Given the description of an element on the screen output the (x, y) to click on. 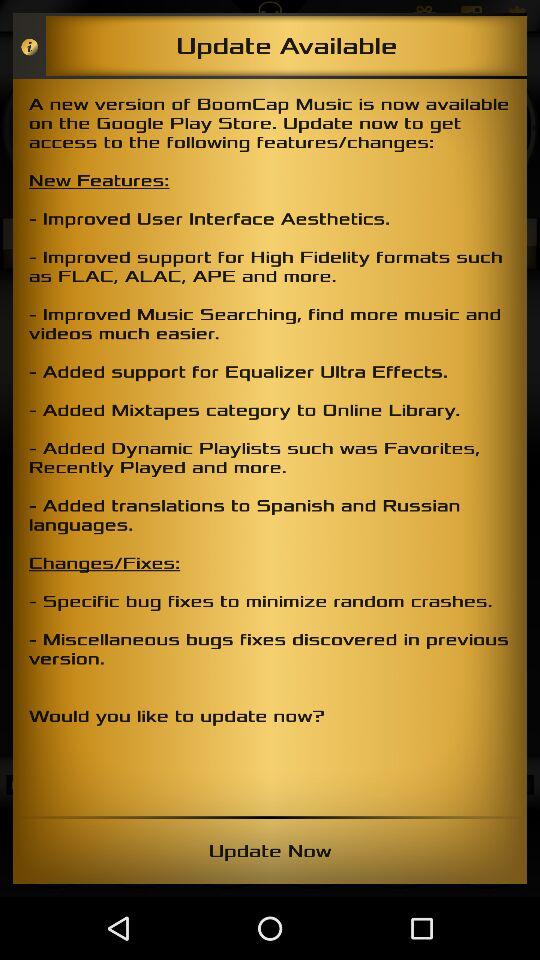
turn off the item below update available icon (269, 447)
